Given the description of an element on the screen output the (x, y) to click on. 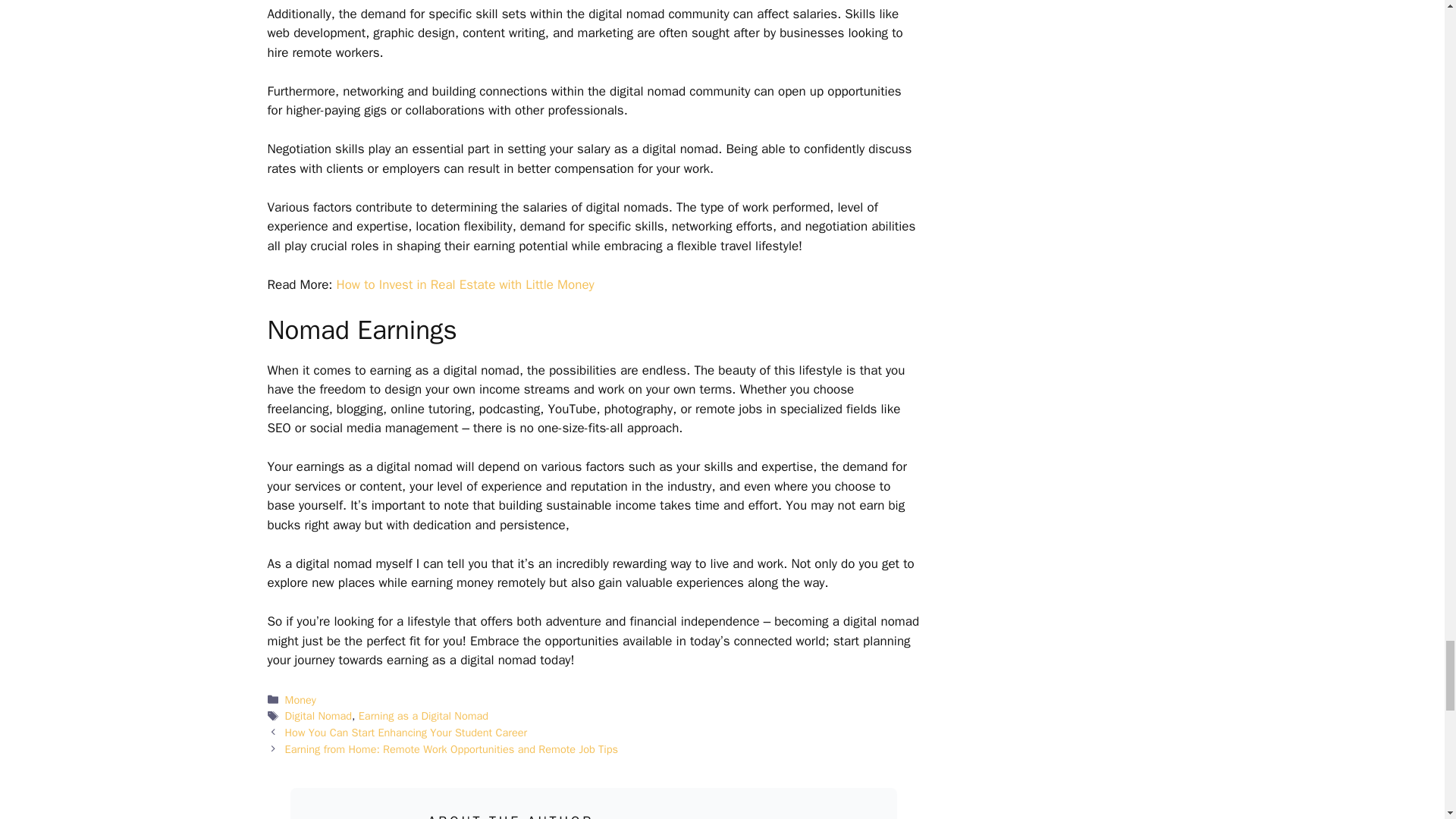
Money (300, 699)
How You Can Start Enhancing Your Student Career (406, 732)
Digital Nomad (318, 715)
Earning as a Digital Nomad (422, 715)
How to Invest in Real Estate with Little Money (465, 284)
